Given the description of an element on the screen output the (x, y) to click on. 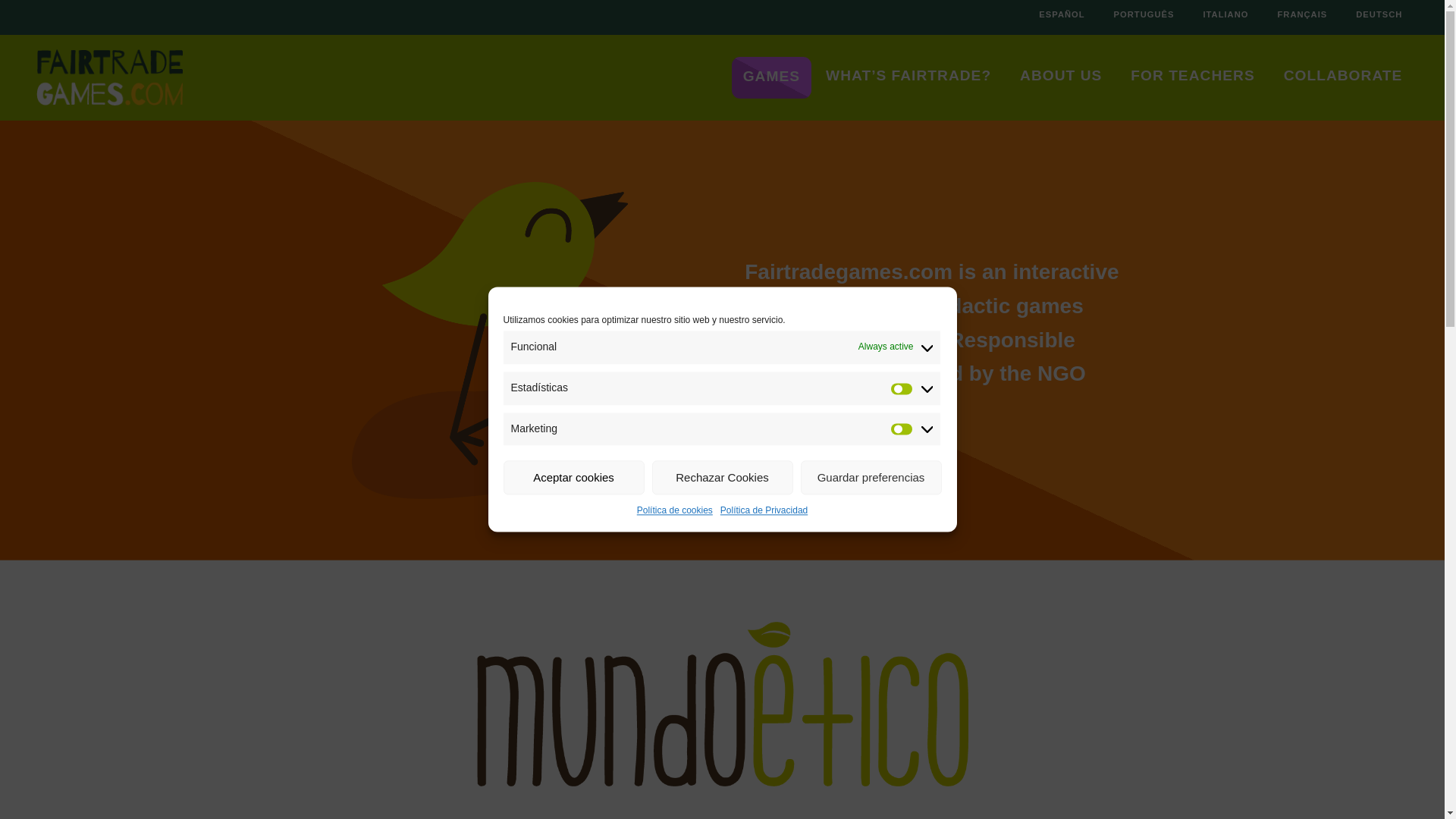
ABOUT US (1061, 78)
FOR TEACHERS (1192, 78)
Guardar preferencias (871, 478)
Aceptar cookies (574, 478)
COLLABORATE (1343, 78)
ITALIANO (1224, 17)
GAMES (770, 79)
Rechazar Cookies (722, 478)
DEUTSCH (1378, 17)
